Given the description of an element on the screen output the (x, y) to click on. 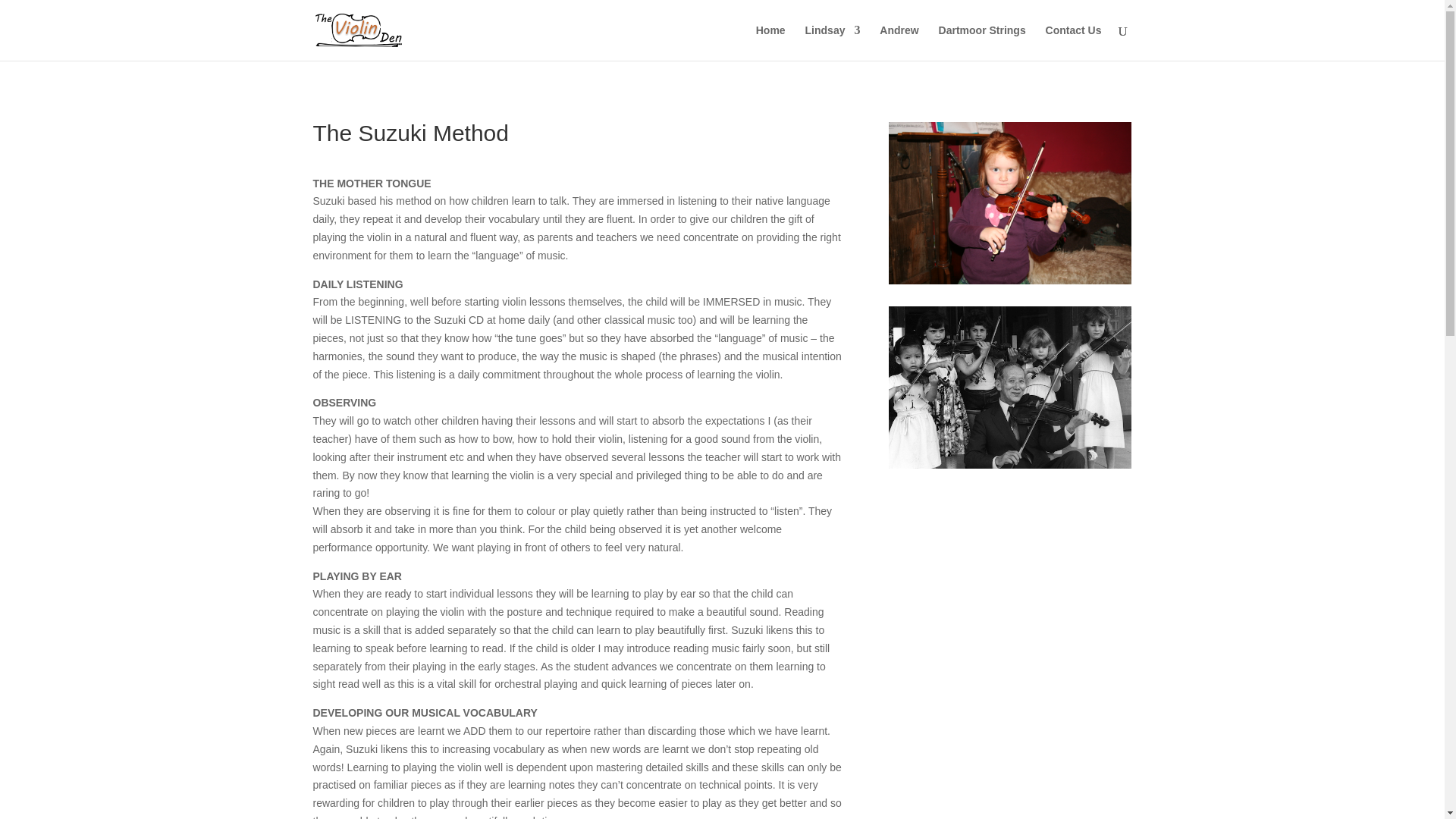
Lindsay (832, 42)
Contact Us (1073, 42)
Dartmoor Strings (982, 42)
Andrew (898, 42)
